Given the description of an element on the screen output the (x, y) to click on. 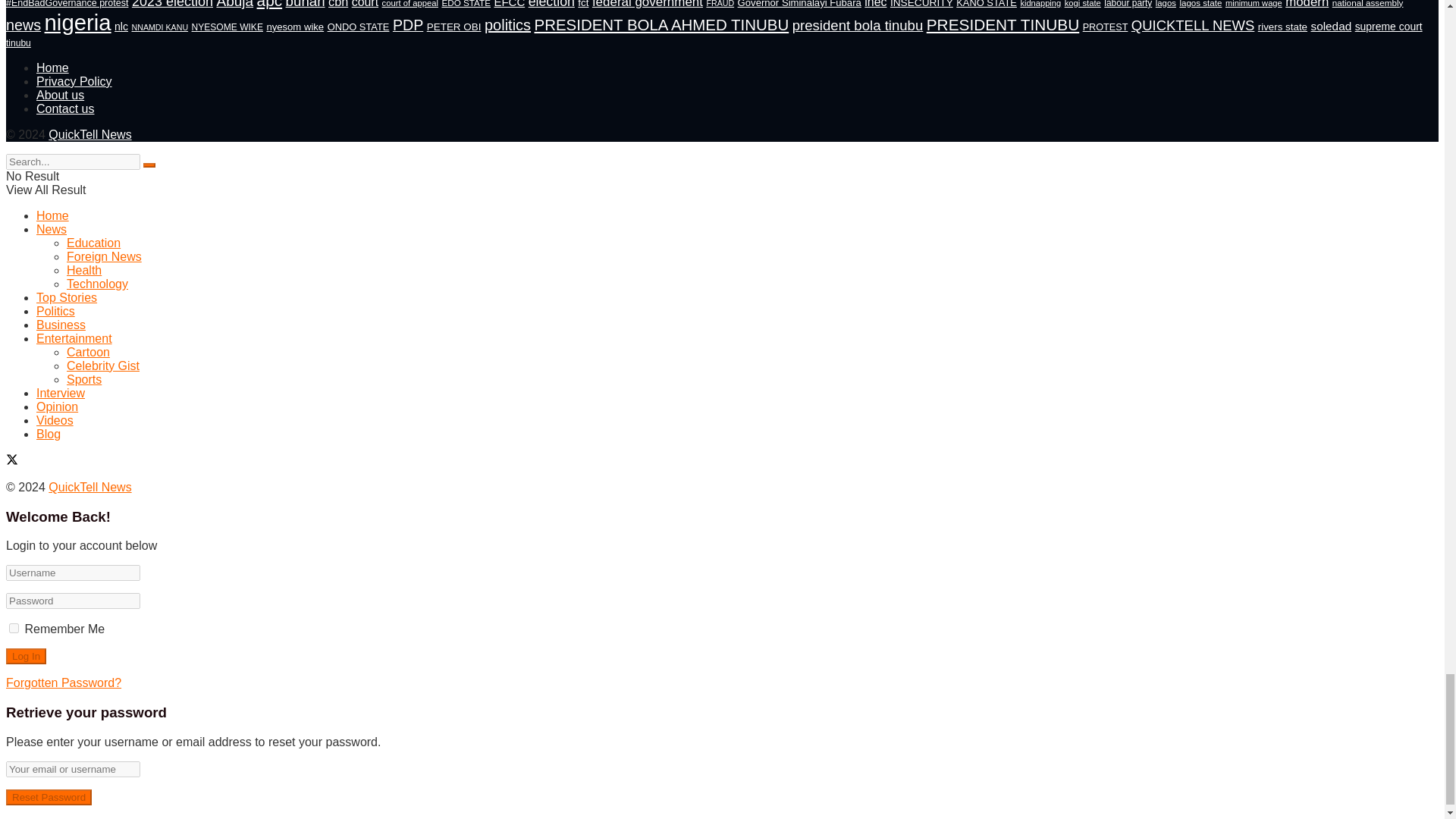
Log In (25, 656)
Reset Password (48, 797)
Quicktell News (89, 133)
Quicktell News (89, 486)
true (13, 628)
